Given the description of an element on the screen output the (x, y) to click on. 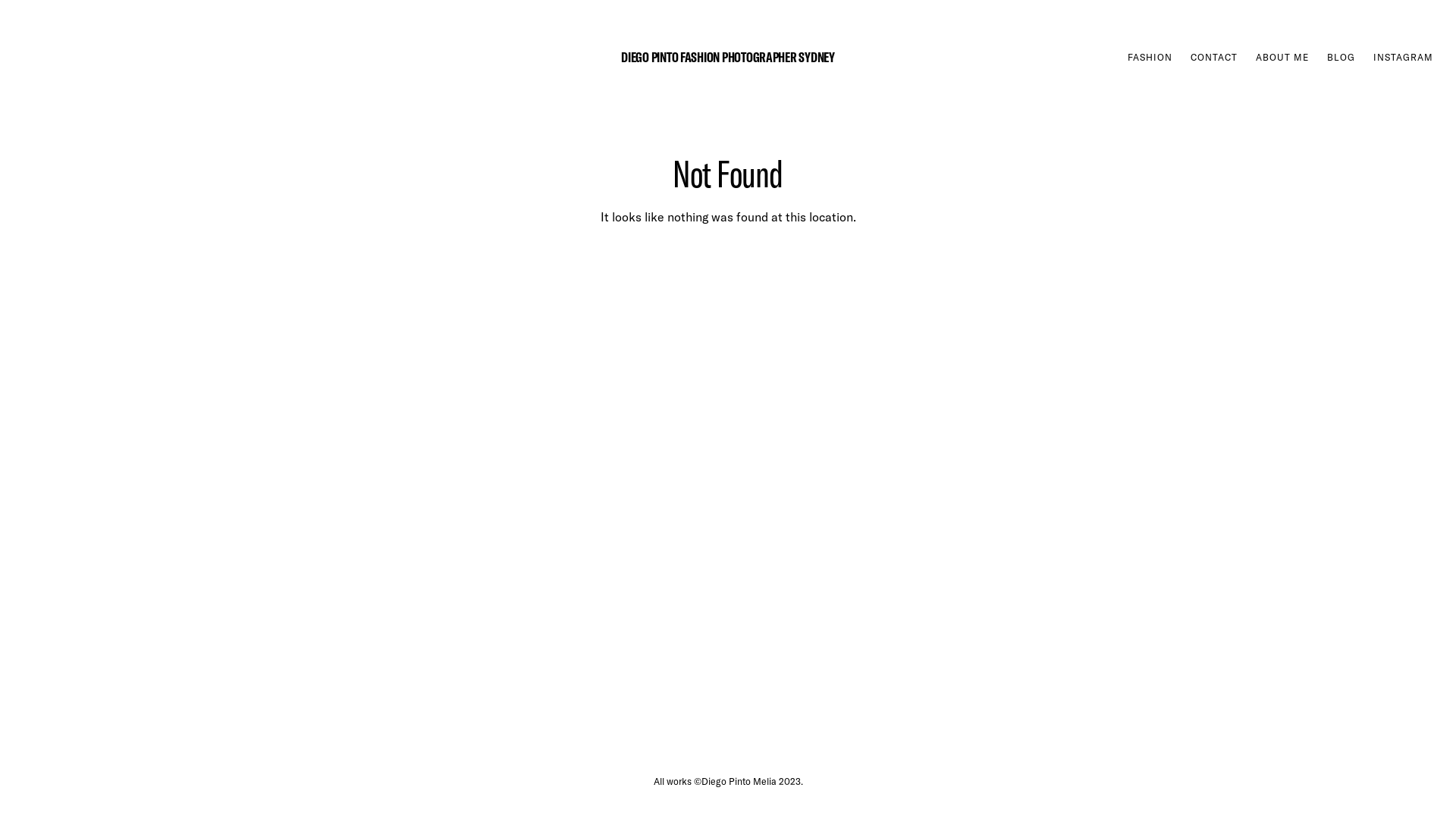
FASHION Element type: text (1149, 56)
CONTACT Element type: text (1213, 56)
INSTAGRAM Element type: text (1403, 56)
DIEGO PINTO FASHION PHOTOGRAPHER SYDNEY Element type: text (727, 56)
BLOG Element type: text (1341, 56)
ABOUT ME Element type: text (1281, 56)
